Given the description of an element on the screen output the (x, y) to click on. 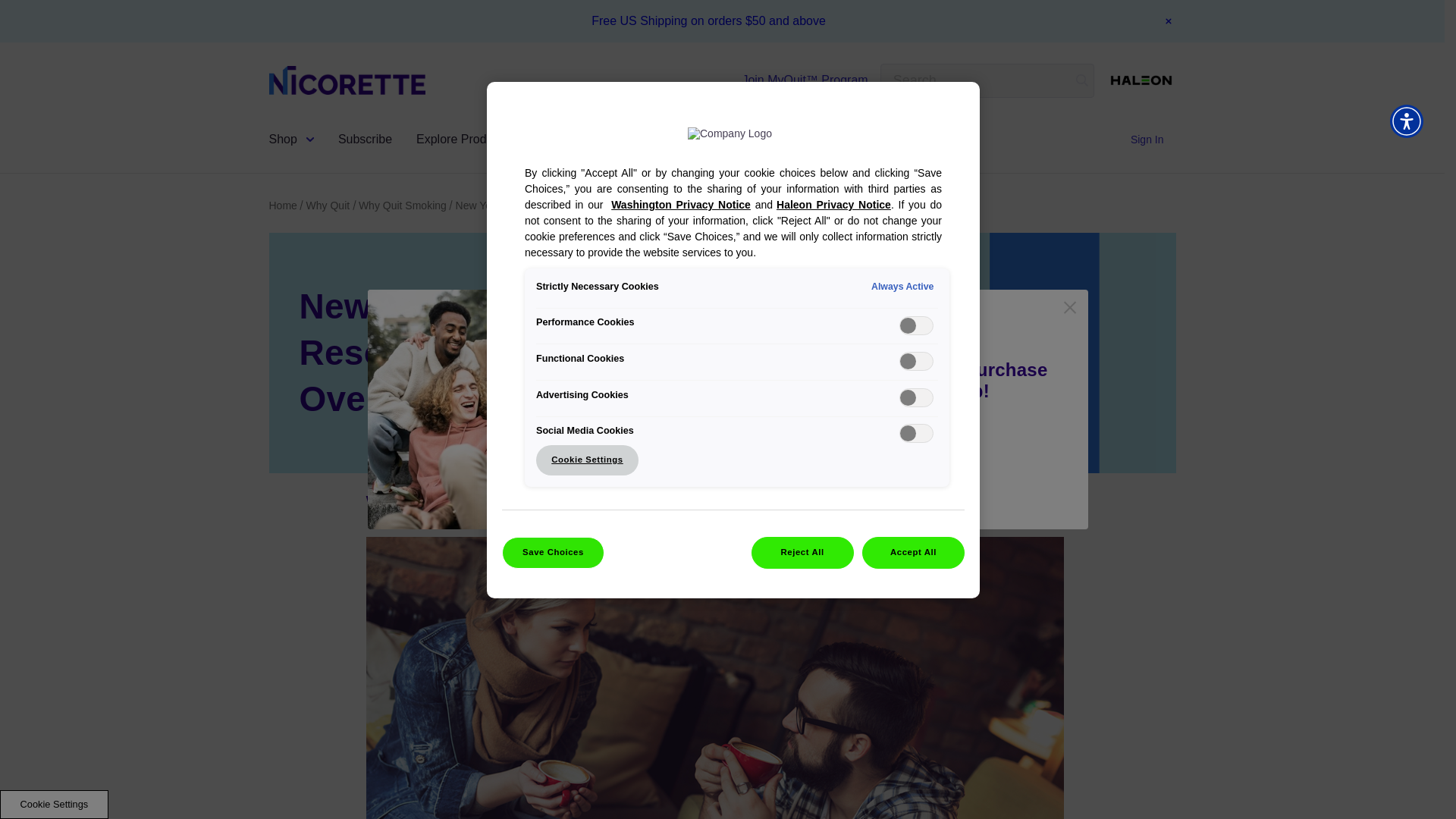
Company Logo (744, 142)
Accessibility Menu (1406, 121)
Shop (295, 138)
